Given the description of an element on the screen output the (x, y) to click on. 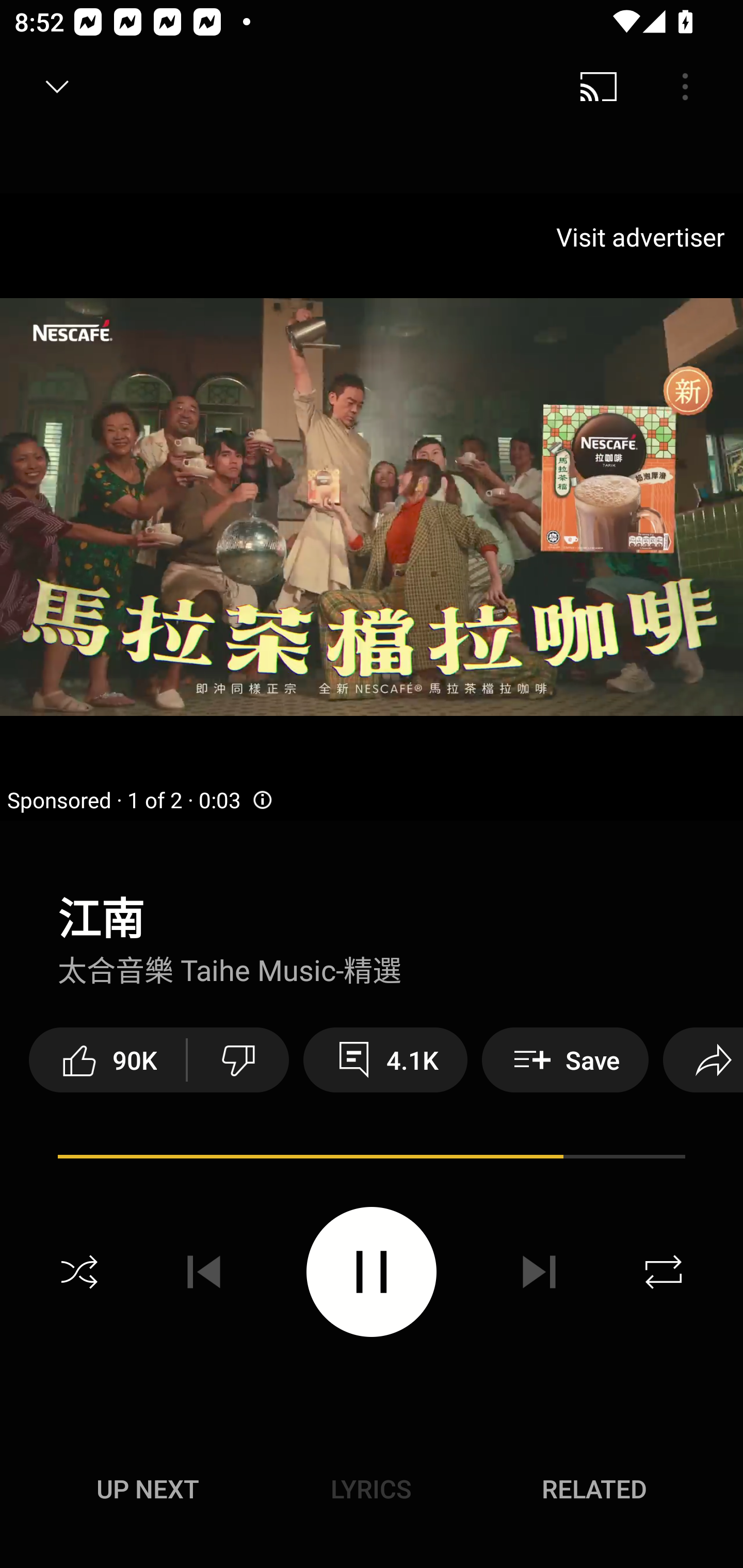
Cast. Disconnected (598, 86)
Menu (684, 86)
Back (50, 86)
Visit advertiser (644, 236)
Sponsored · 1 of 2 · 0:03 (140, 800)
90K like this video along with 90,778 other people (106, 1059)
Dislike (238, 1059)
4.1K View 4,157 comments (385, 1059)
Save Save to playlist (565, 1059)
Share (702, 1059)
Pause video (371, 1272)
Shuffle off (79, 1272)
Previous track disabled (203, 1272)
Next track disabled (538, 1272)
Repeat off (663, 1272)
Up next UP NEXT Lyrics LYRICS Related RELATED (371, 1491)
Lyrics LYRICS (370, 1488)
Related RELATED (594, 1488)
